Given the description of an element on the screen output the (x, y) to click on. 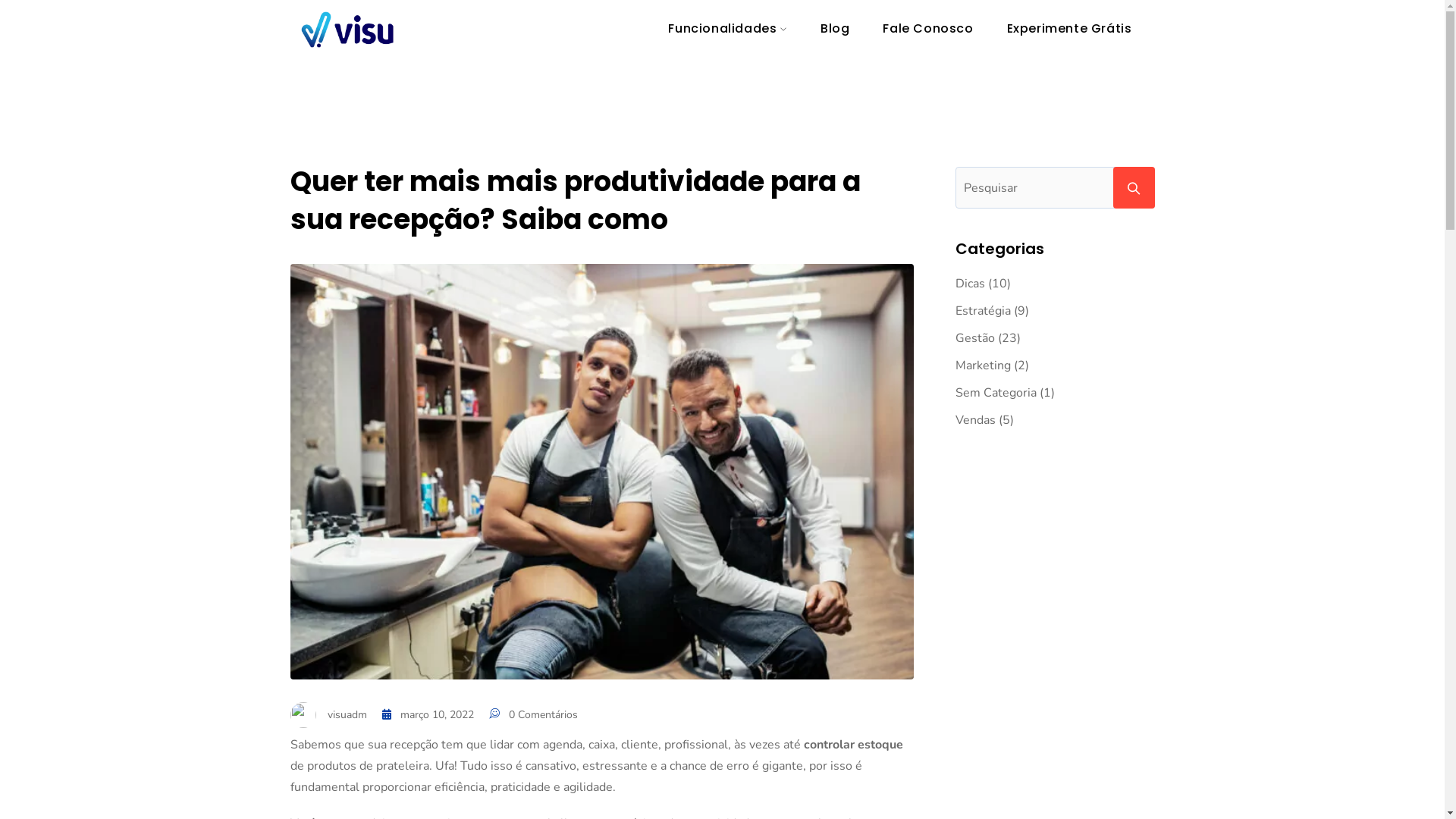
Sem Categoria Element type: text (995, 392)
Marketing Element type: text (982, 365)
Dicas Element type: text (970, 283)
Vendas Element type: text (975, 419)
controlar estoque Element type: text (853, 744)
Search Element type: text (1133, 187)
